Given the description of an element on the screen output the (x, y) to click on. 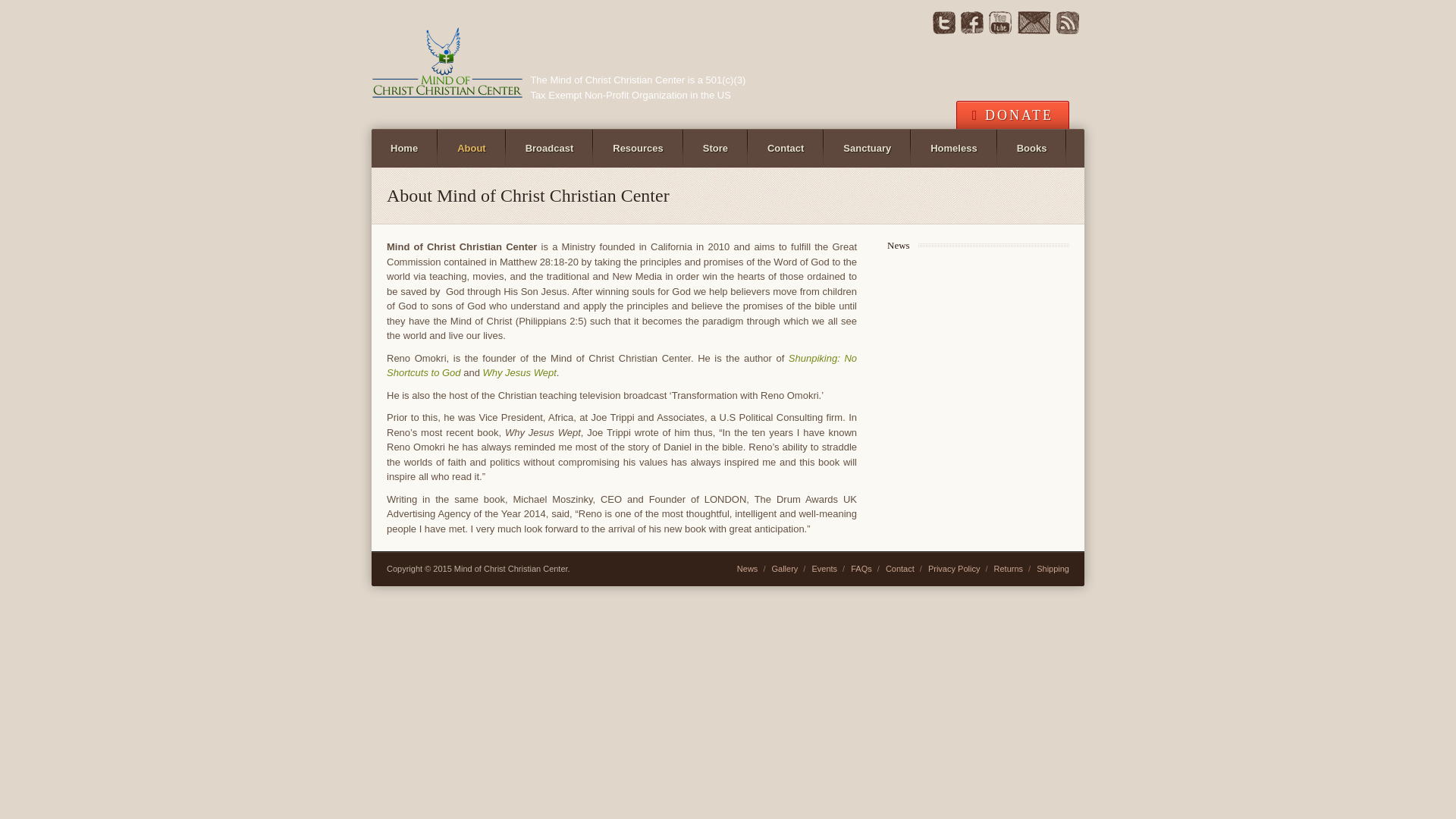
News (747, 568)
DONATE (1012, 114)
Sanctuary (867, 148)
Events (823, 568)
Why Jesus Wept (518, 372)
twitter (944, 30)
Returns (1008, 568)
Books (1031, 148)
Shunpiking: No Shortcuts to God (622, 365)
Store (715, 148)
Resources (637, 148)
facebook (972, 30)
Home (403, 148)
rss (1067, 30)
Shipping (1052, 568)
